Given the description of an element on the screen output the (x, y) to click on. 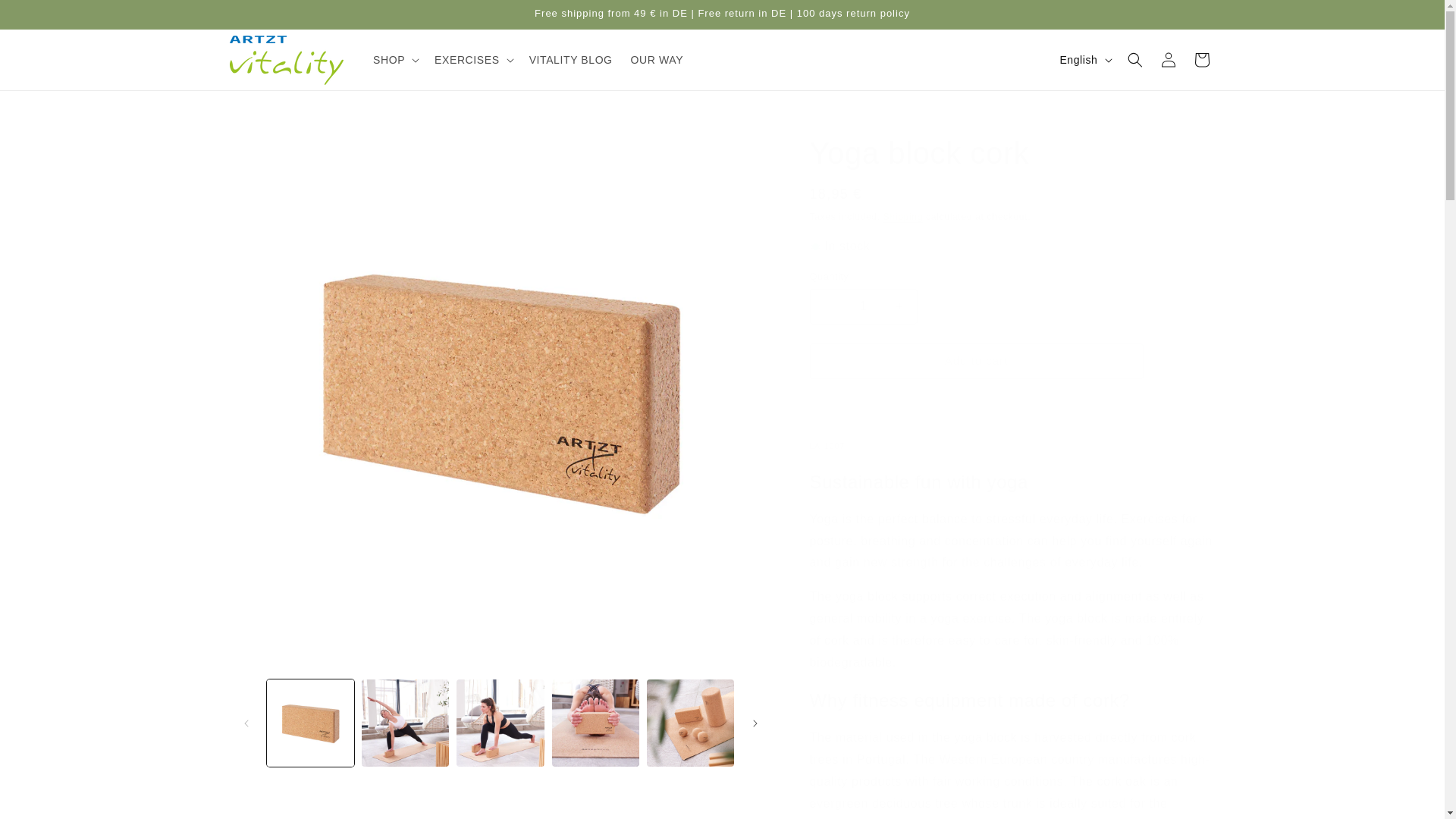
1 (863, 306)
VITALITY BLOG (570, 60)
OUR WAY (657, 60)
English (1083, 59)
Skip to content (45, 17)
